Given the description of an element on the screen output the (x, y) to click on. 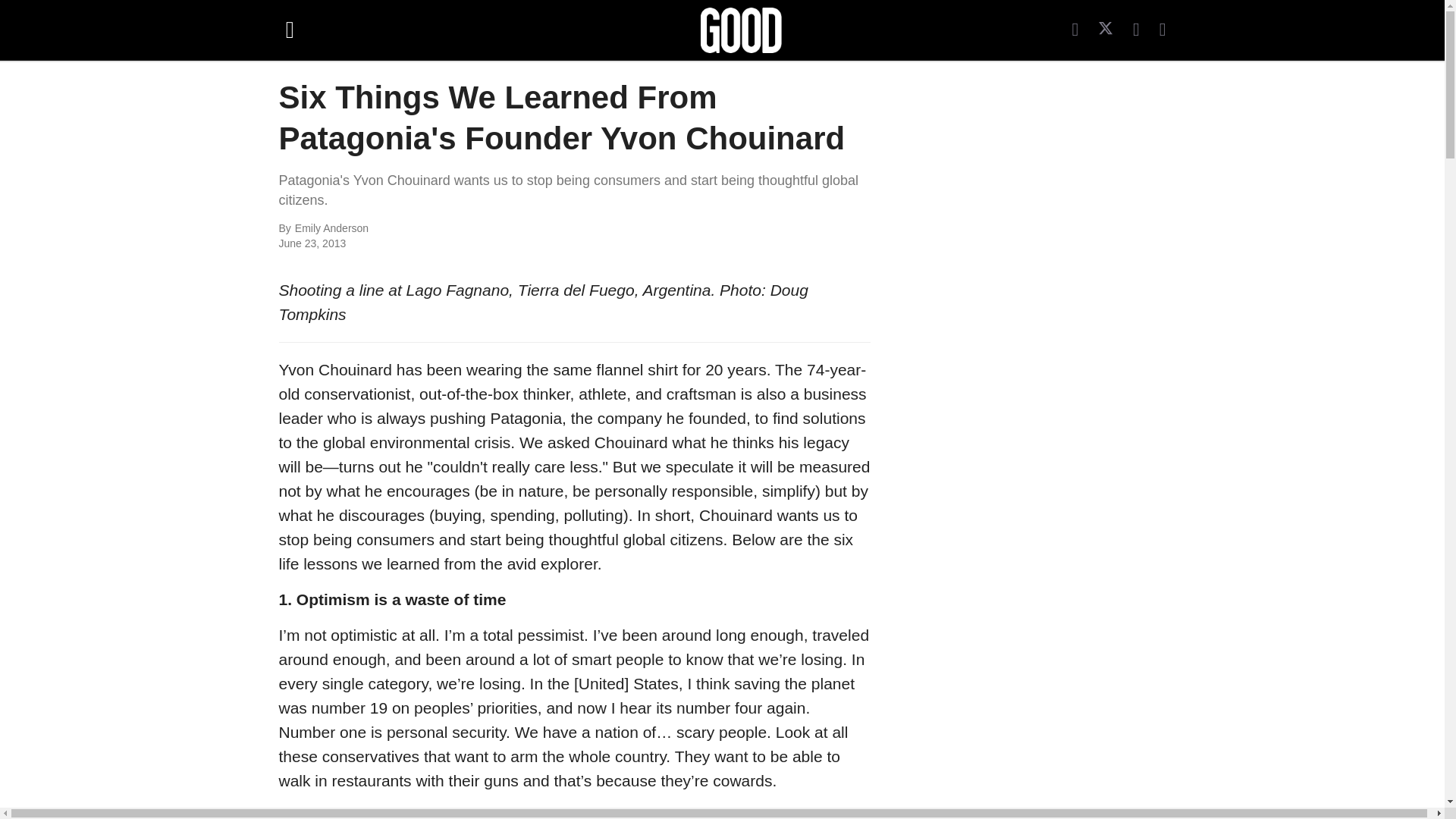
Emily Anderson (459, 228)
